Given the description of an element on the screen output the (x, y) to click on. 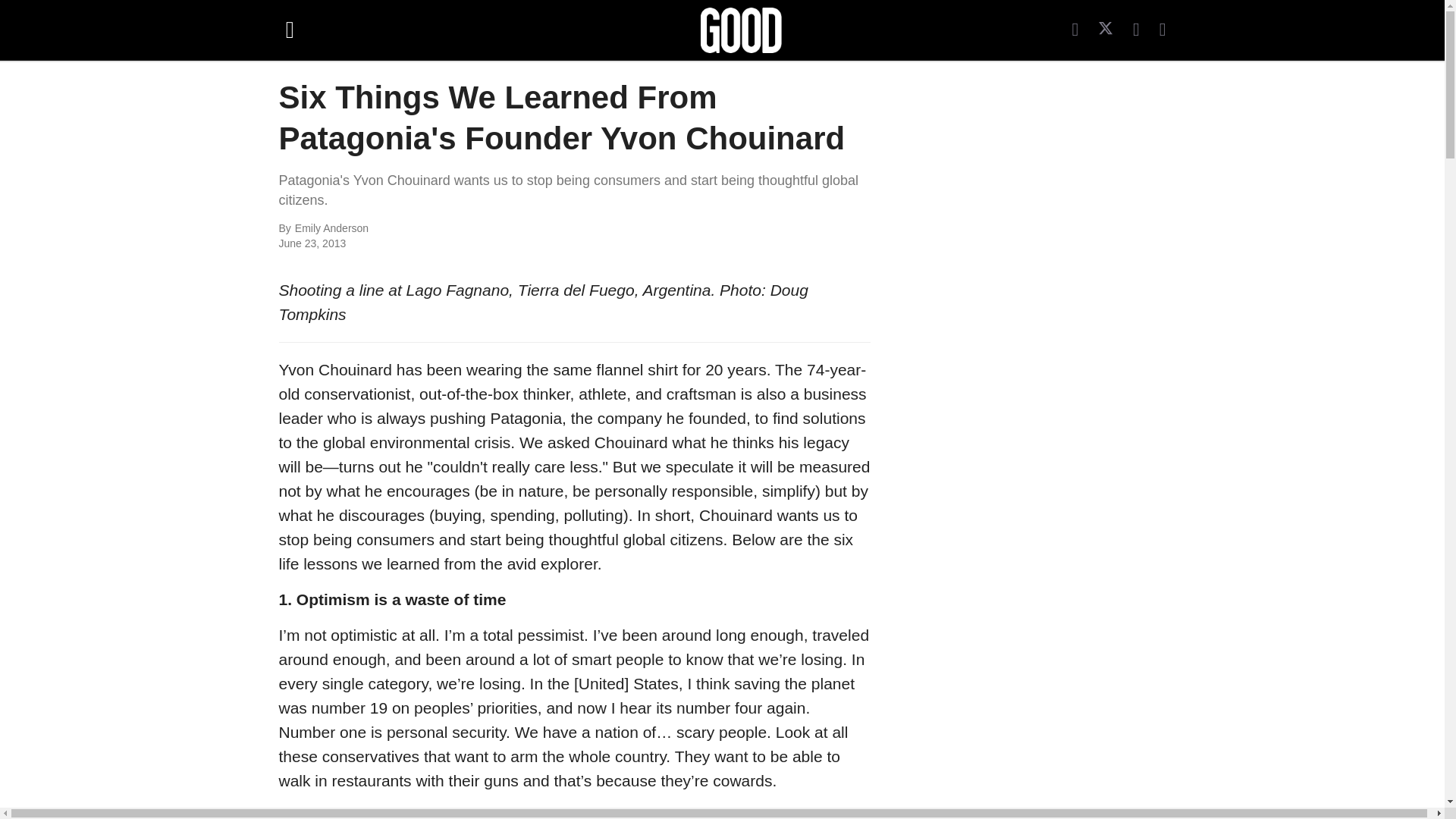
Emily Anderson (459, 228)
